Given the description of an element on the screen output the (x, y) to click on. 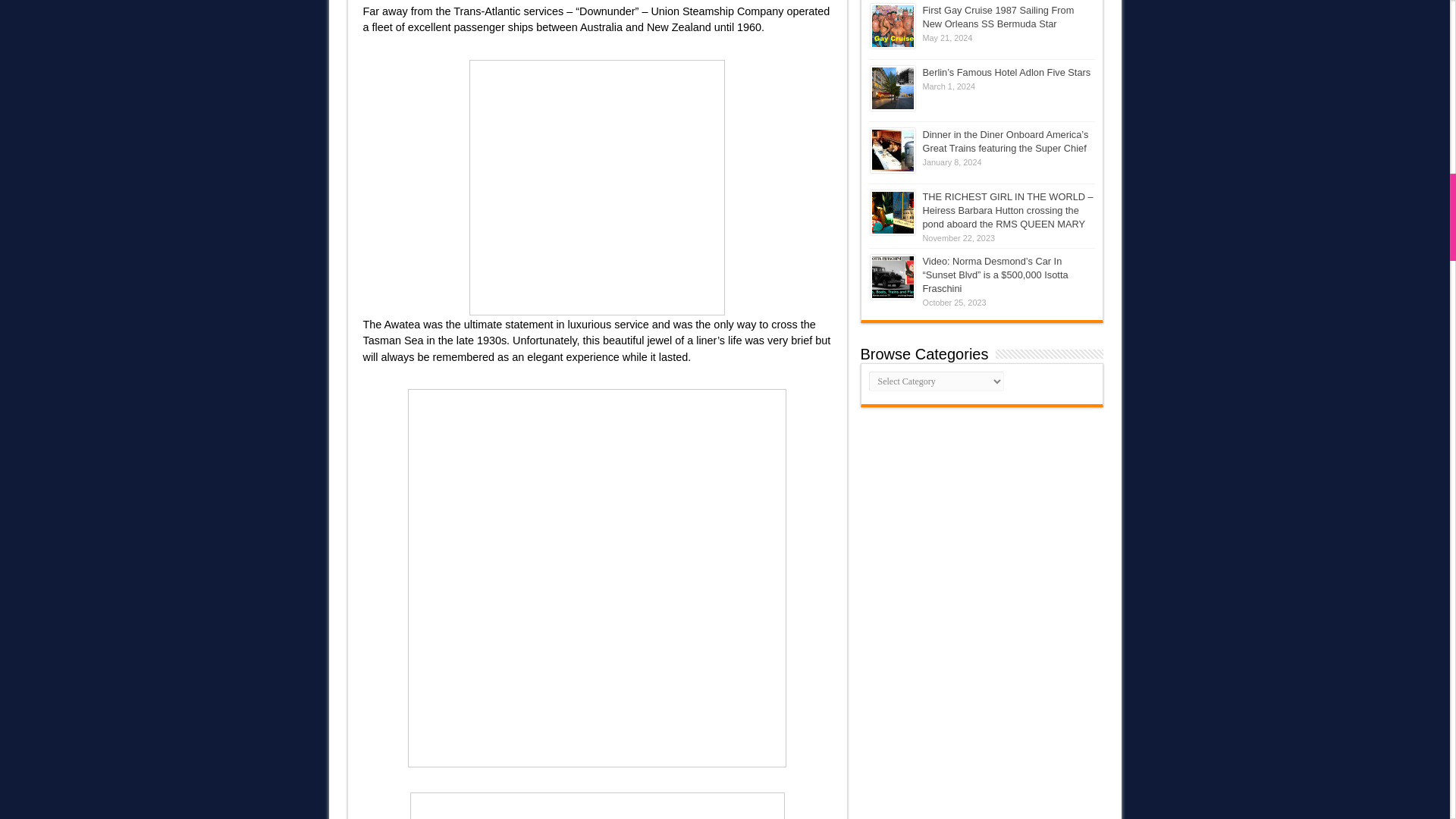
a2.jpg (596, 805)
as1.jpg (596, 194)
